Given the description of an element on the screen output the (x, y) to click on. 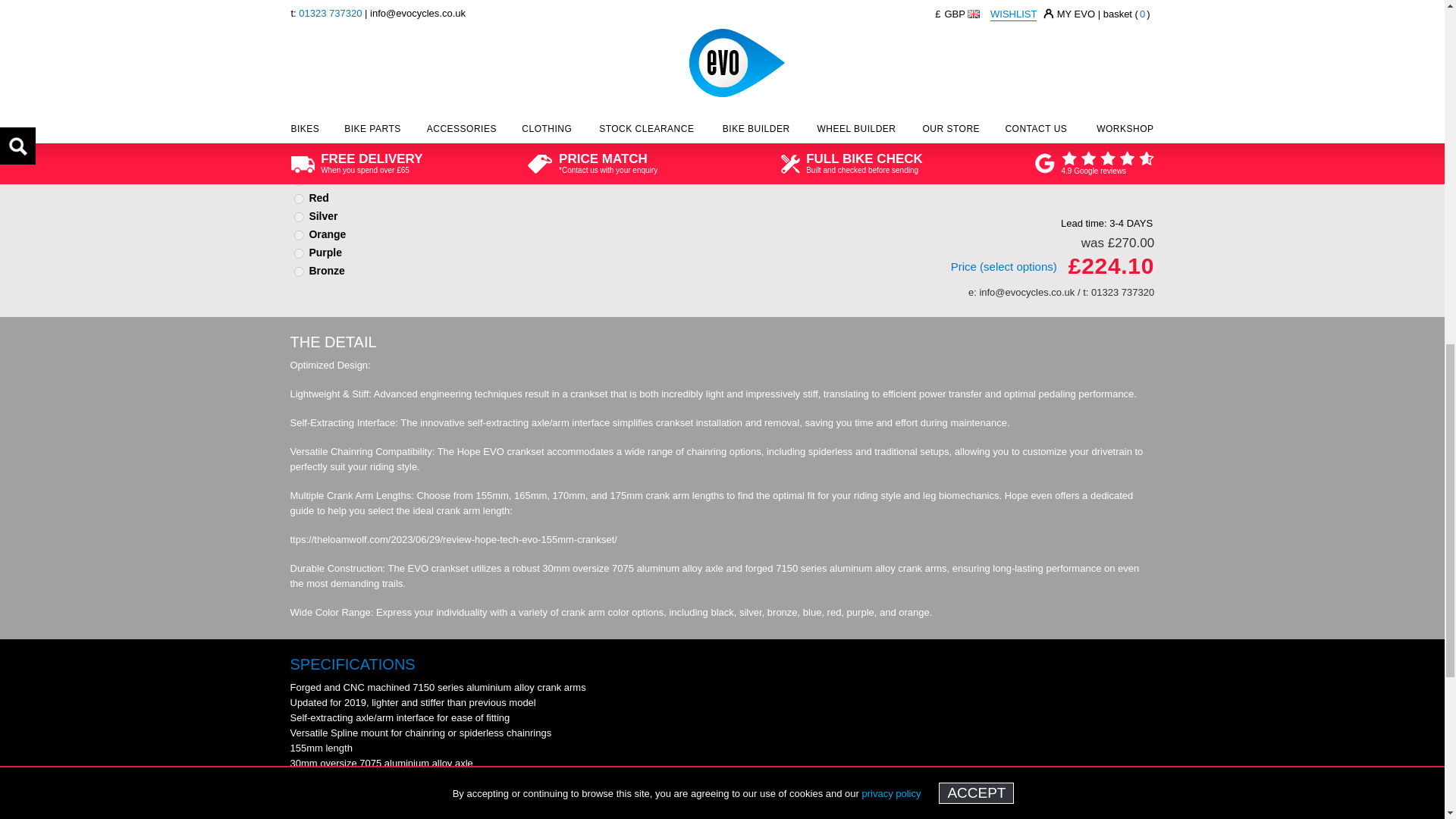
5 (299, 235)
3 (299, 198)
4 (299, 216)
7 (299, 271)
6 (299, 253)
1 (299, 162)
2 (299, 180)
